Given the description of an element on the screen output the (x, y) to click on. 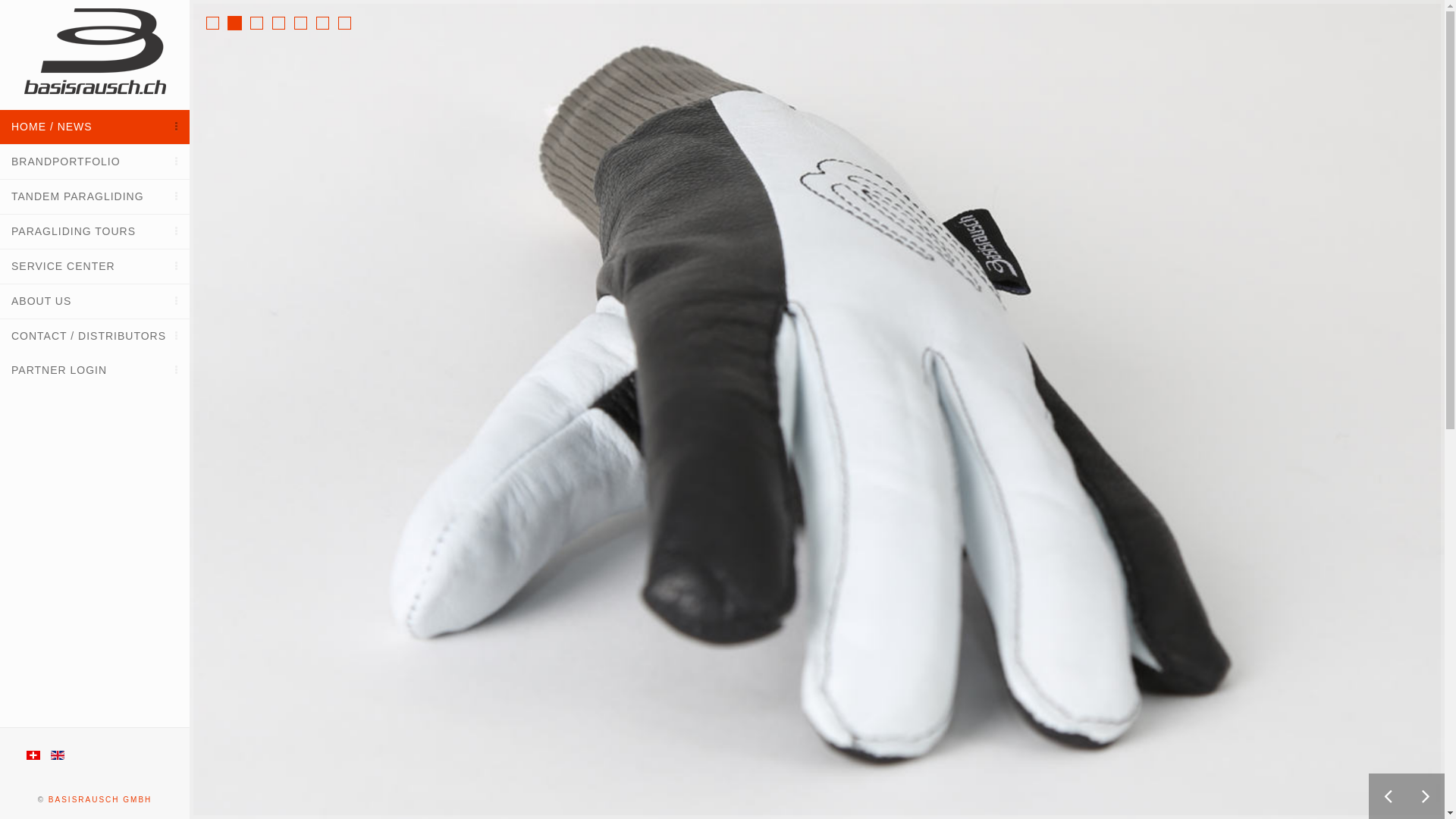
English (UK) Element type: hover (57, 754)
Deutsch Element type: hover (33, 754)
PARTNER LOGIN Element type: text (94, 370)
TANDEM PARAGLIDING Element type: text (94, 196)
BRANDPORTFOLIO Element type: text (94, 161)
SERVICE CENTER Element type: text (94, 266)
BASISRAUSCH GMBH Element type: text (99, 799)
ABOUT US Element type: text (94, 301)
HOME / NEWS Element type: text (94, 126)
PARAGLIDING TOURS Element type: text (94, 231)
CONTACT / DISTRIBUTORS Element type: text (94, 336)
